Given the description of an element on the screen output the (x, y) to click on. 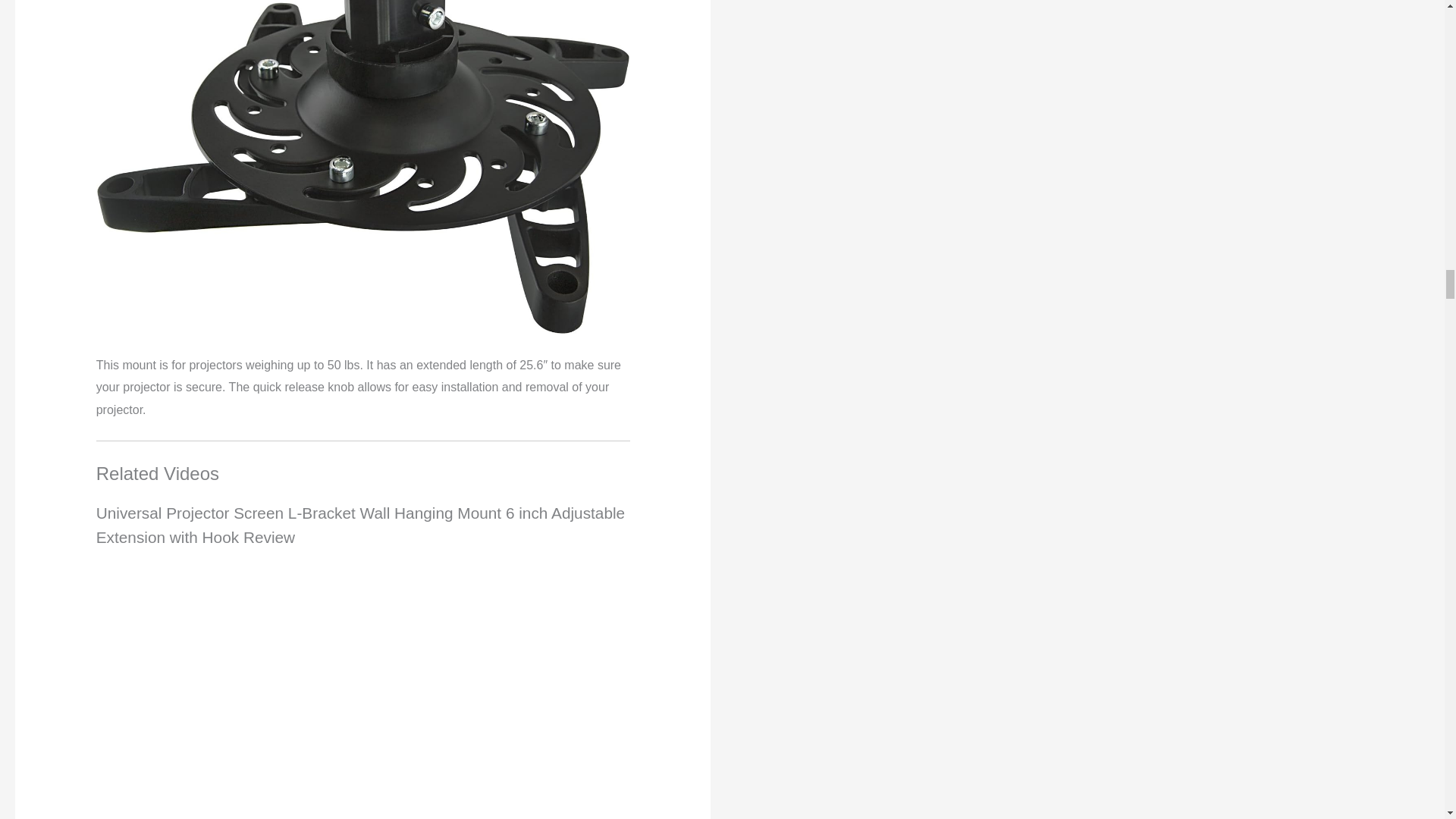
YouTube video player (308, 683)
